Given the description of an element on the screen output the (x, y) to click on. 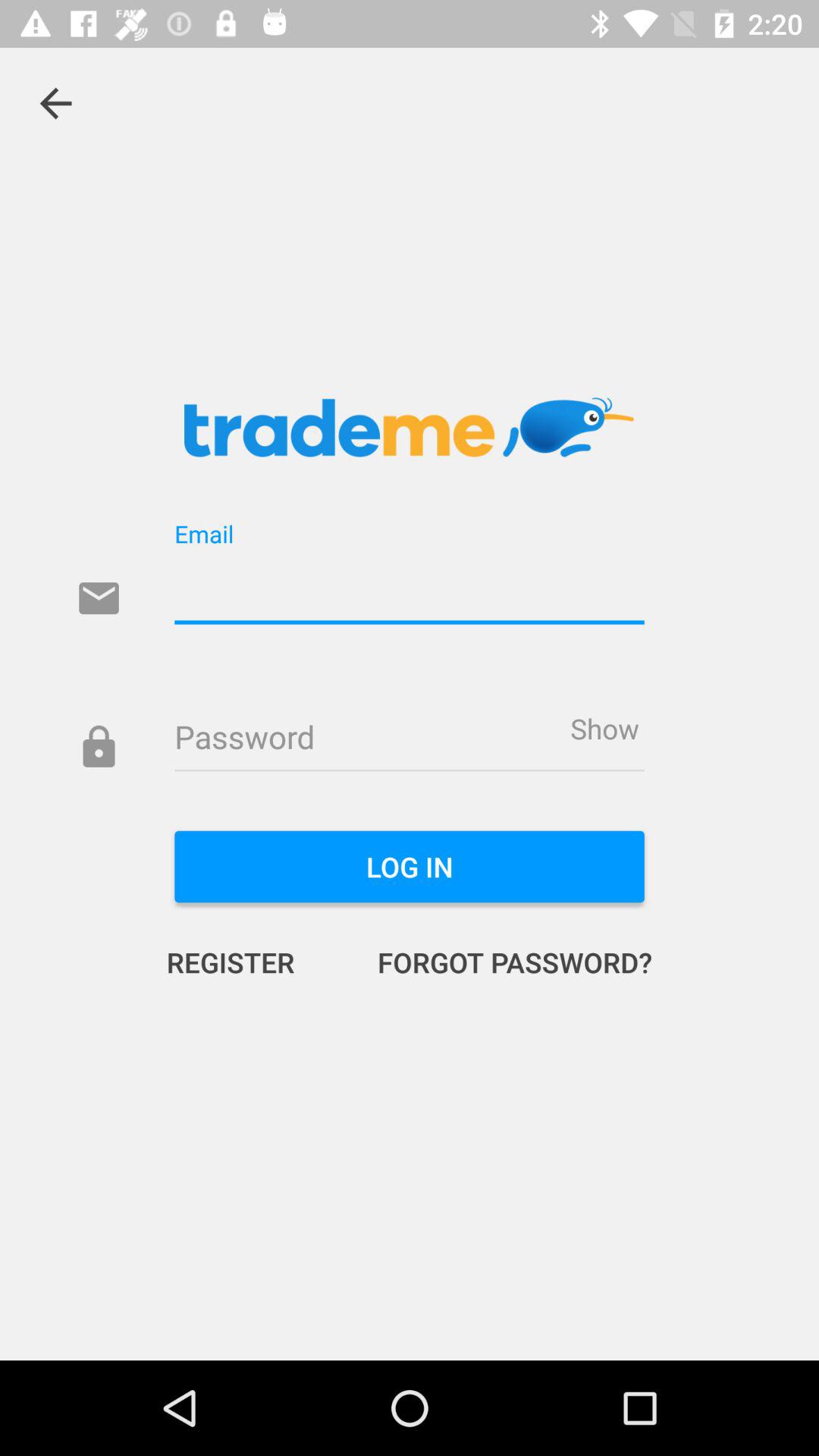
press icon on the right (604, 728)
